Given the description of an element on the screen output the (x, y) to click on. 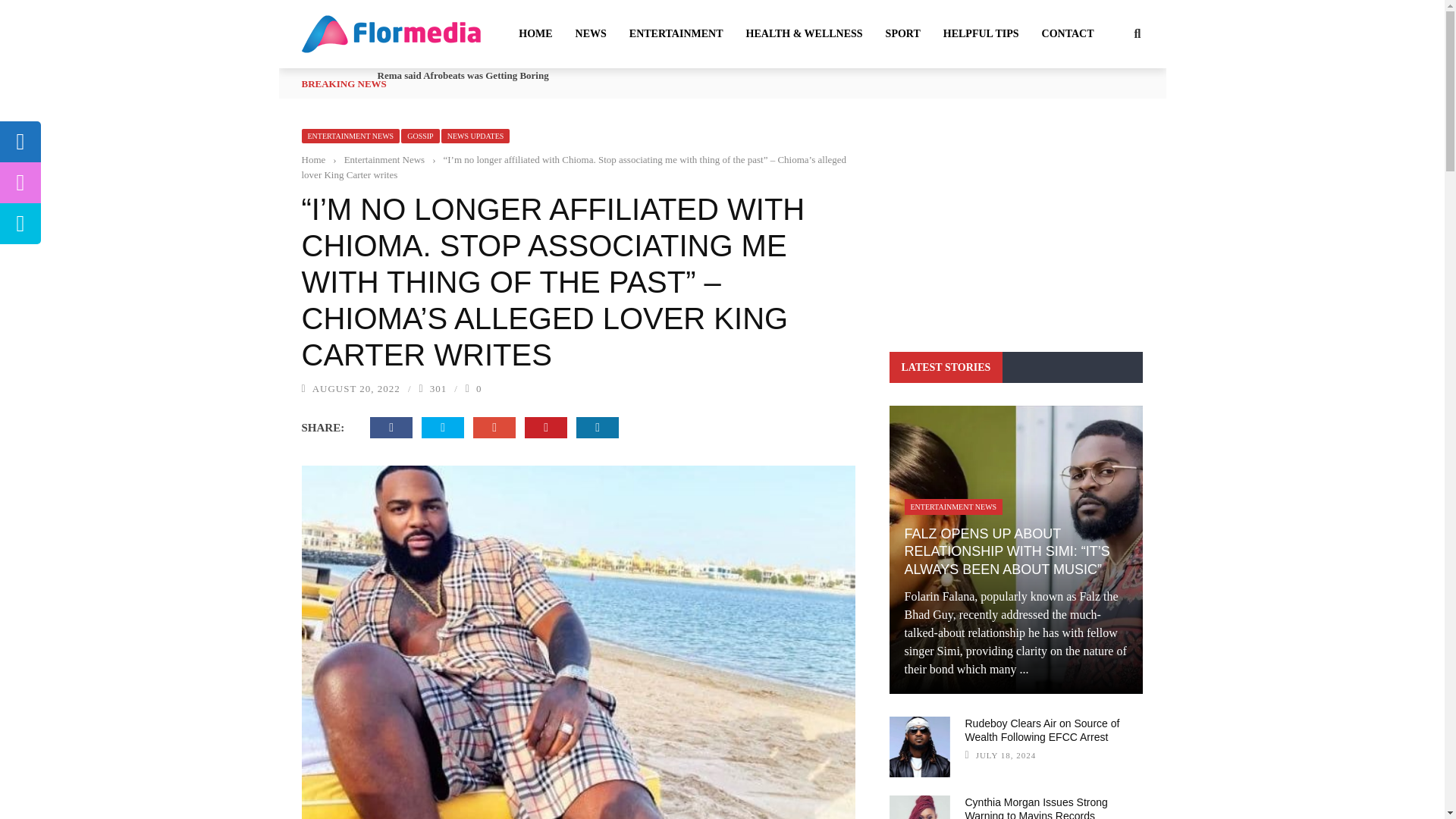
Rema said Afrobeats was Getting Boring (462, 75)
Home (313, 159)
ENTERTAINMENT (676, 33)
Entertainment News (384, 159)
NEWS UPDATES (476, 135)
CONTACT (1067, 33)
GOSSIP (420, 135)
NEWS (590, 33)
HOME (534, 33)
HELPFUL TIPS (980, 33)
Advertisement (1015, 220)
ENTERTAINMENT NEWS (350, 135)
SPORT (903, 33)
